Given the description of an element on the screen output the (x, y) to click on. 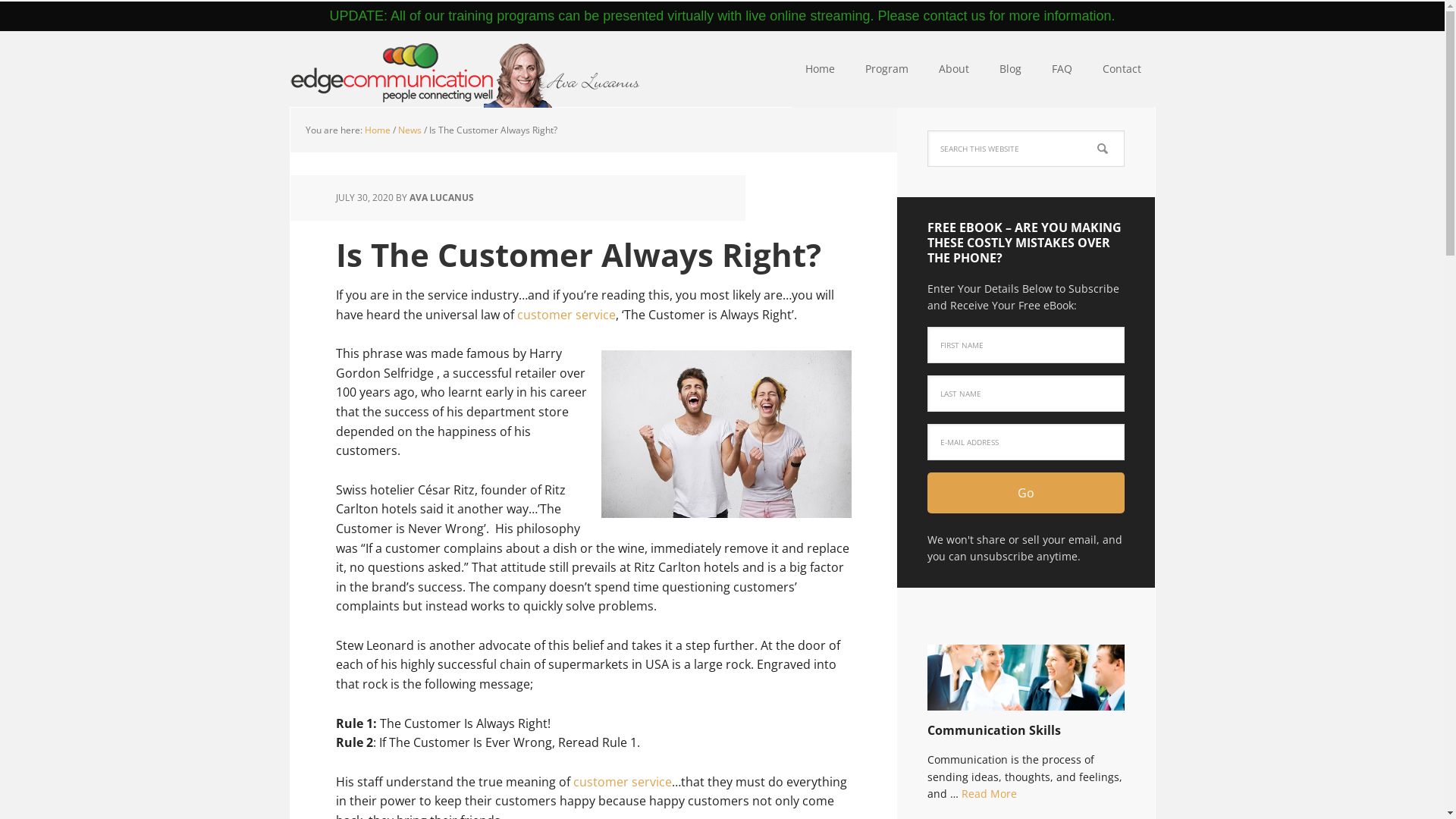
Communication Skills Element type: hover (1024, 684)
Home Element type: text (376, 129)
Search Element type: text (1123, 129)
Go Element type: text (1024, 492)
Edge Communication Element type: text (463, 69)
Read More Element type: text (988, 793)
contact us Element type: text (953, 15)
AVA LUCANUS Element type: text (441, 197)
customer service Element type: text (622, 781)
Program Element type: text (885, 69)
About Element type: text (953, 69)
Blog Element type: text (1010, 69)
News Element type: text (408, 129)
FAQ Element type: text (1061, 69)
Home Element type: text (819, 69)
Contact Element type: text (1121, 69)
Communication Skills Element type: text (993, 729)
customer service Element type: text (566, 314)
